Given the description of an element on the screen output the (x, y) to click on. 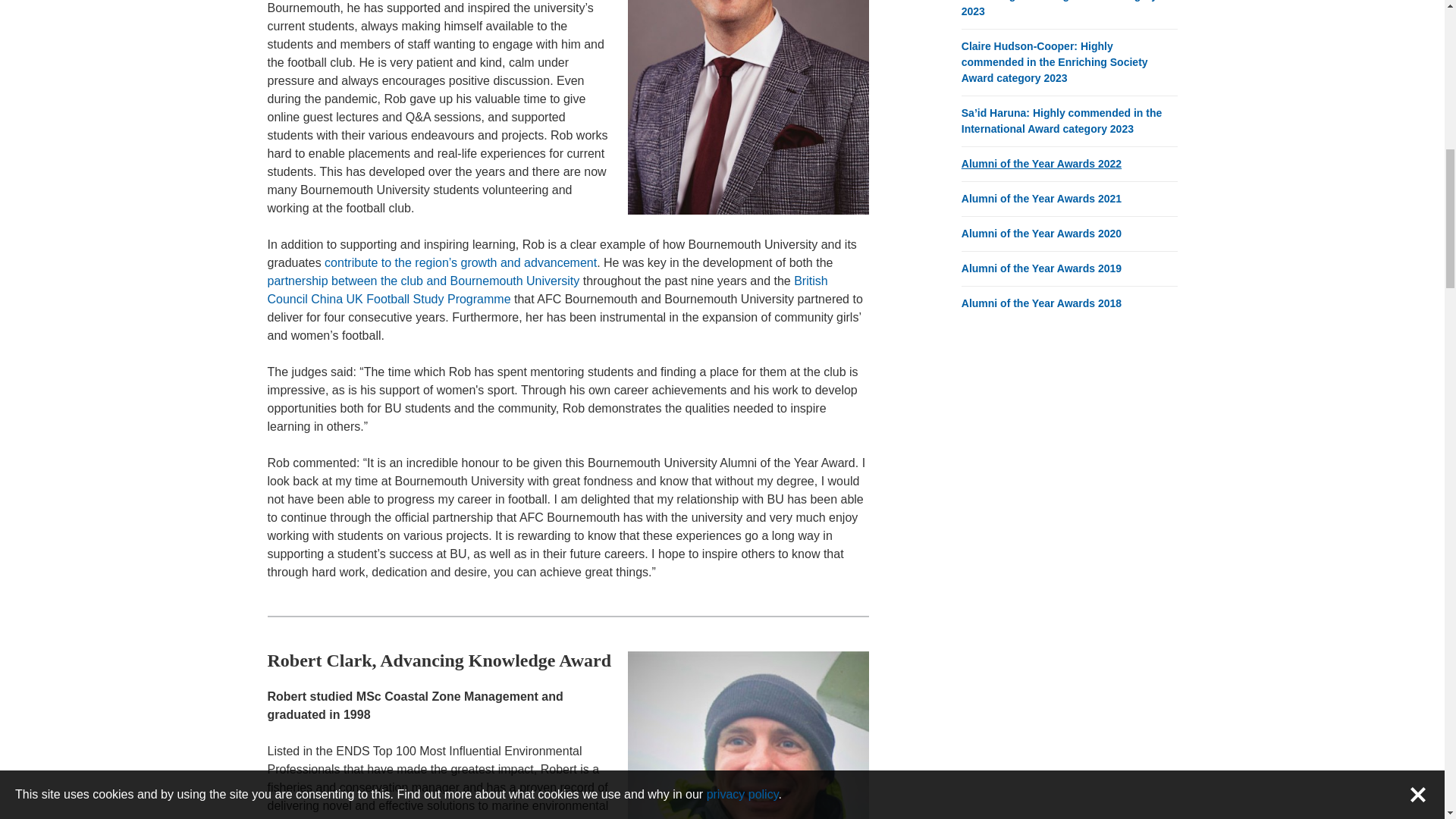
Rob Mitchell (747, 107)
Robert Clarke (747, 735)
